Given the description of an element on the screen output the (x, y) to click on. 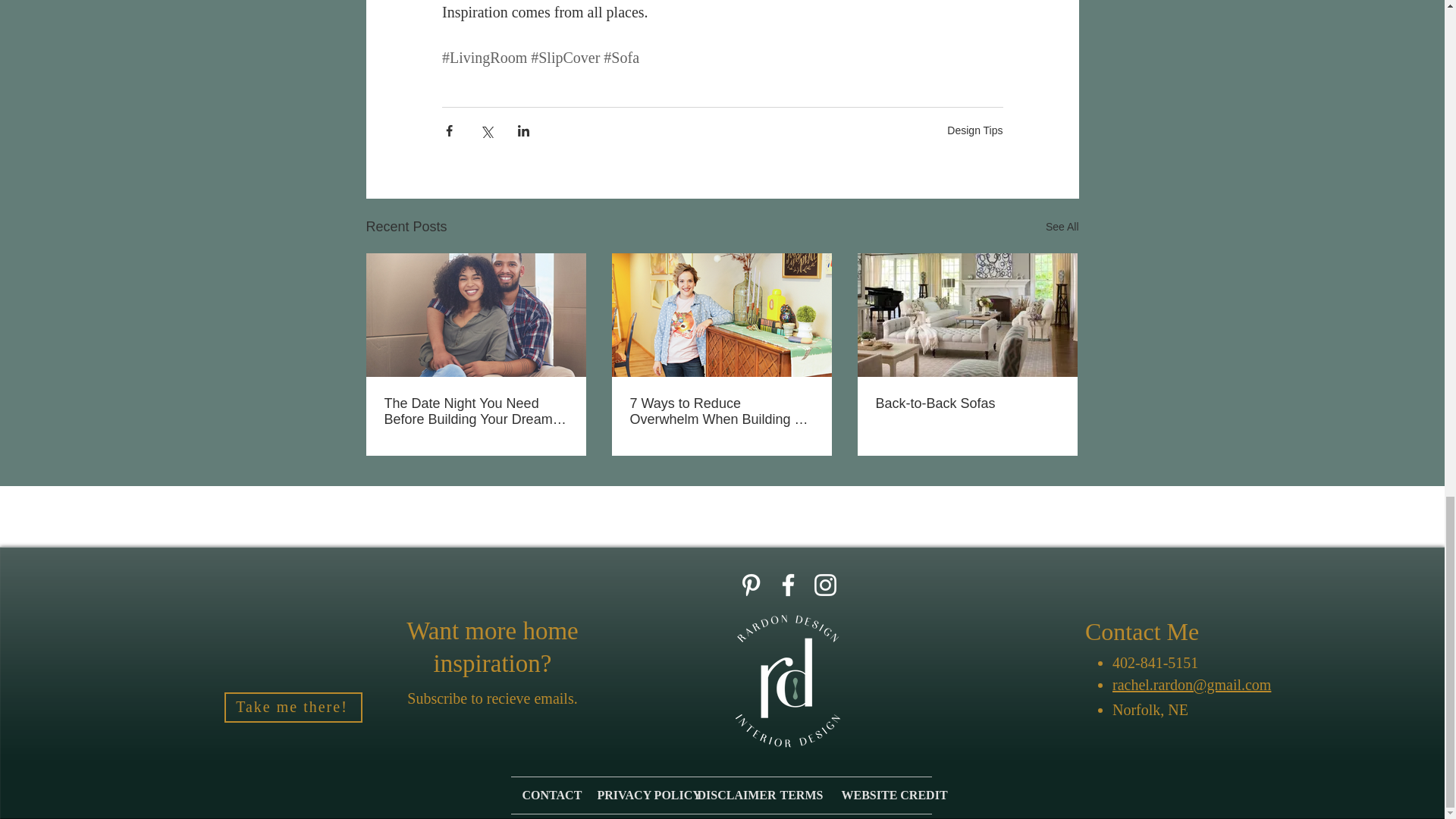
7 Ways to Reduce Overwhelm When Building a Home (720, 411)
The Date Night You Need Before Building Your Dream Home (475, 411)
Take me there! (293, 707)
See All (1061, 227)
Design Tips (975, 130)
Back-to-Back Sofas (966, 403)
